Given the description of an element on the screen output the (x, y) to click on. 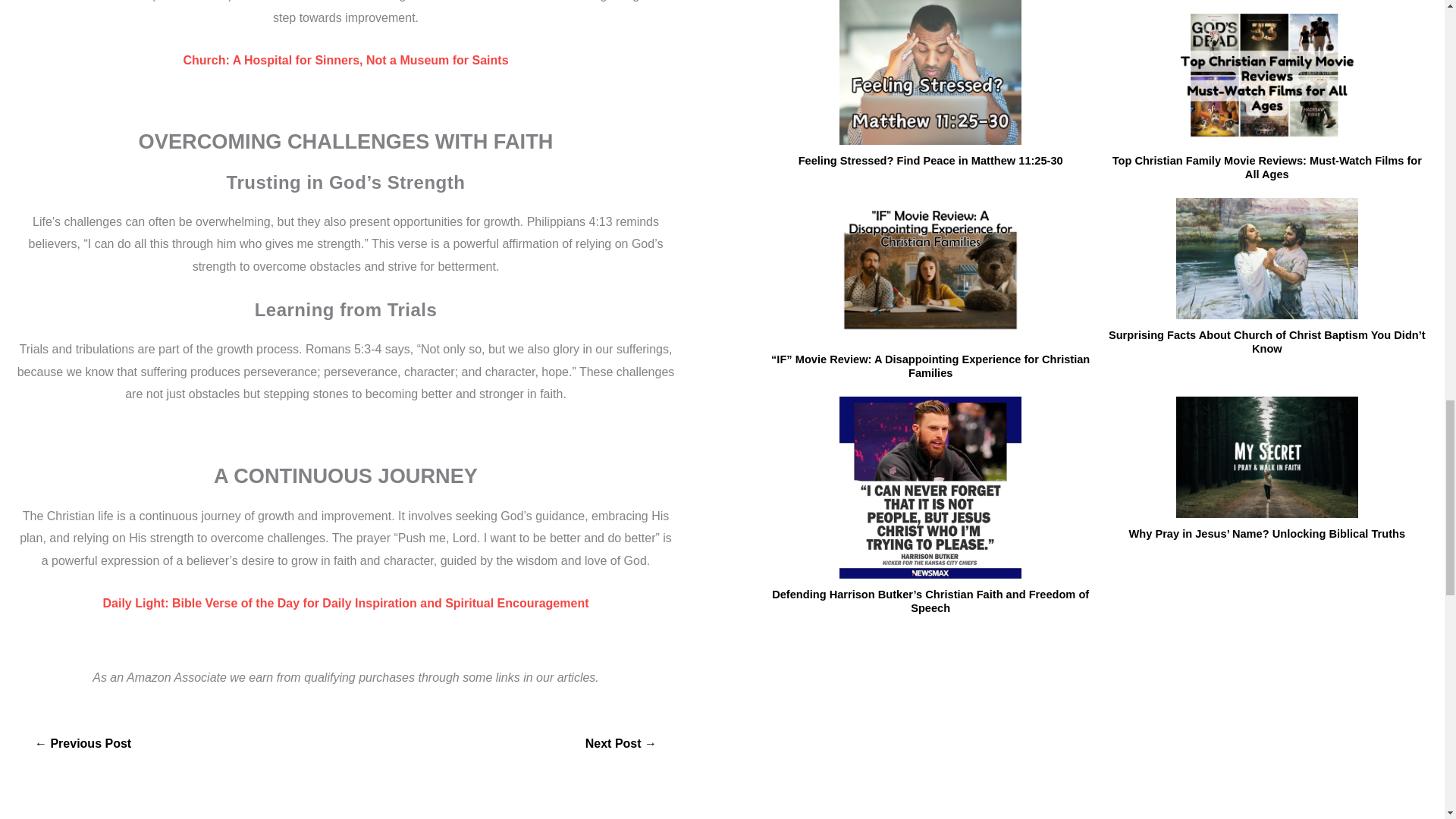
Church: A Hospital for Sinners, Not a Museum for Saints (345, 60)
Personalized Bibles: A Unique Spiritual Gift (621, 743)
Faith in God: A Christian Perspective (82, 743)
